Given the description of an element on the screen output the (x, y) to click on. 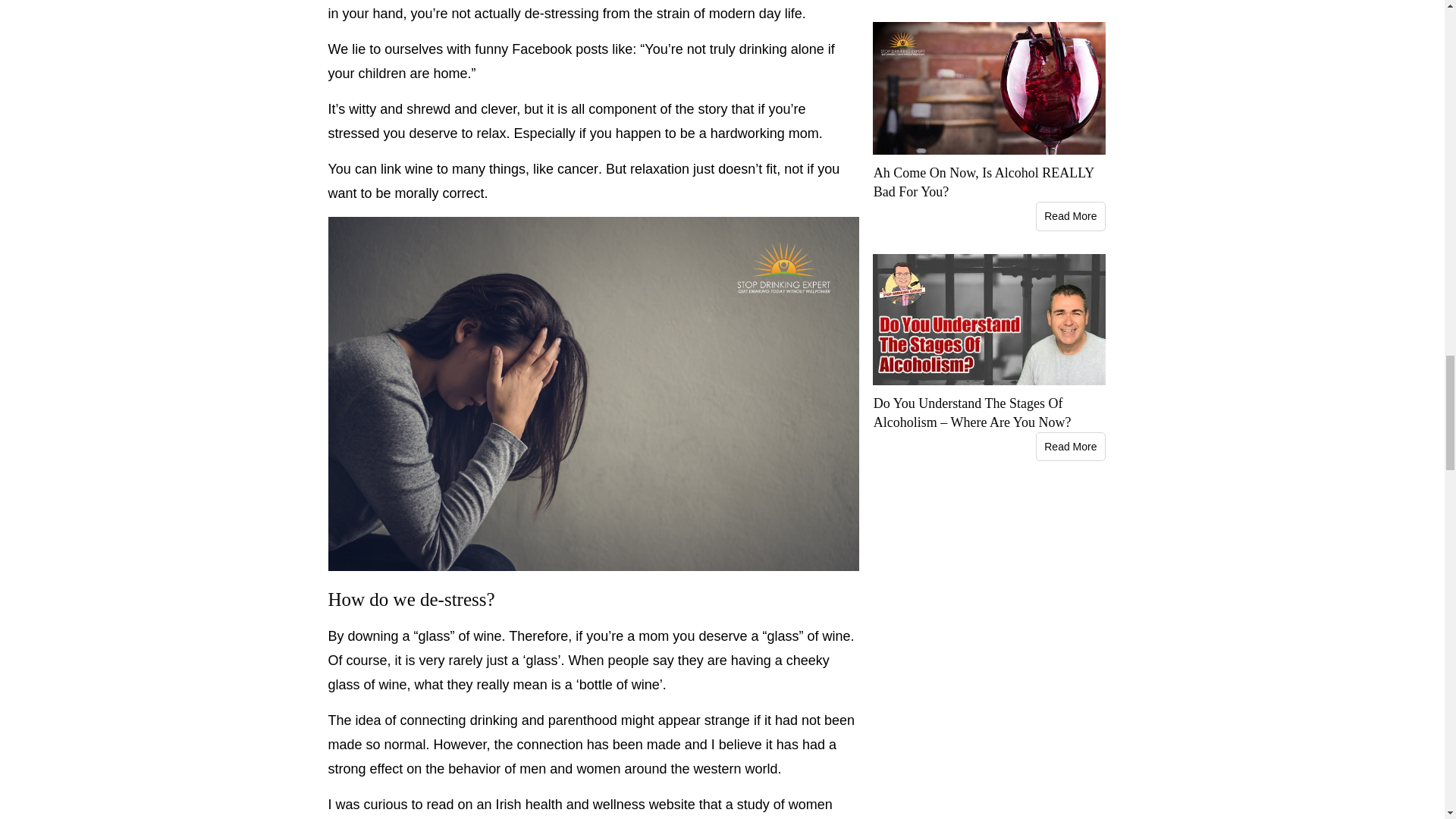
wine to many things, like cancer (501, 168)
drinking alone (781, 48)
Drinking Alone, What Does It Mean And What Should You Do? (781, 48)
hardworking mom (764, 133)
